Given the description of an element on the screen output the (x, y) to click on. 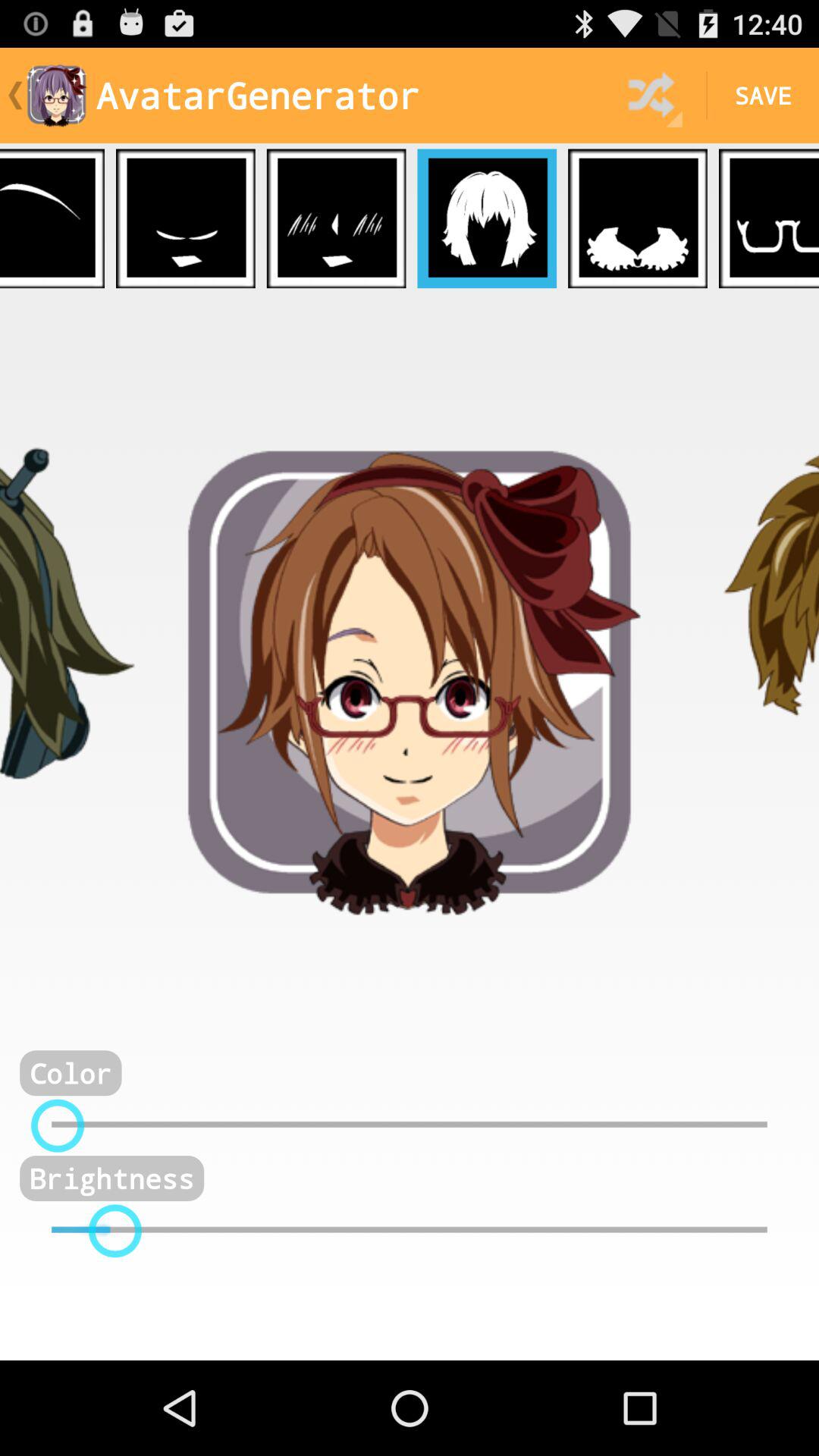
eyebrow style (52, 218)
